Given the description of an element on the screen output the (x, y) to click on. 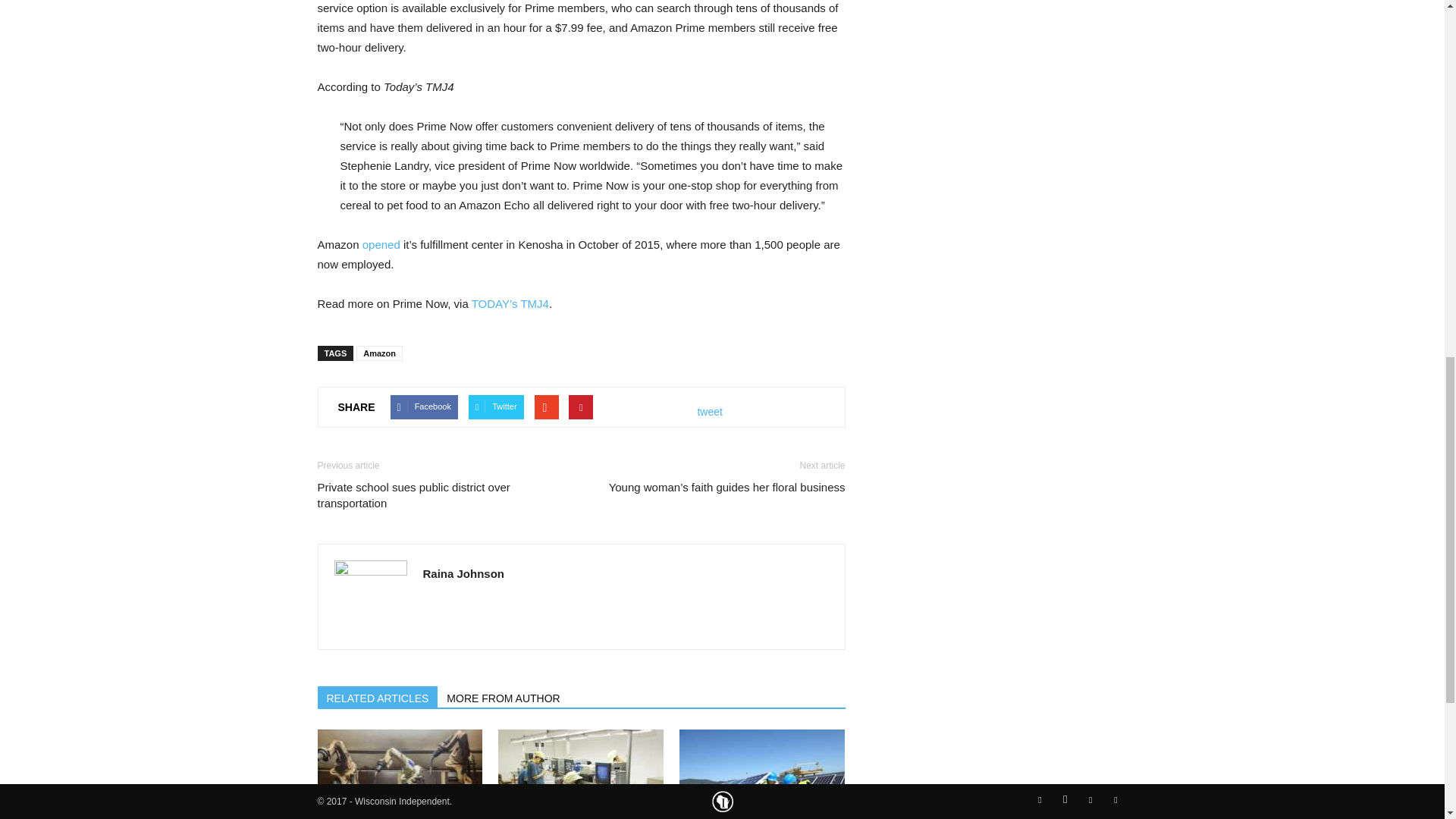
Foxconn deal means greater risk for taxpayers (399, 774)
